Given the description of an element on the screen output the (x, y) to click on. 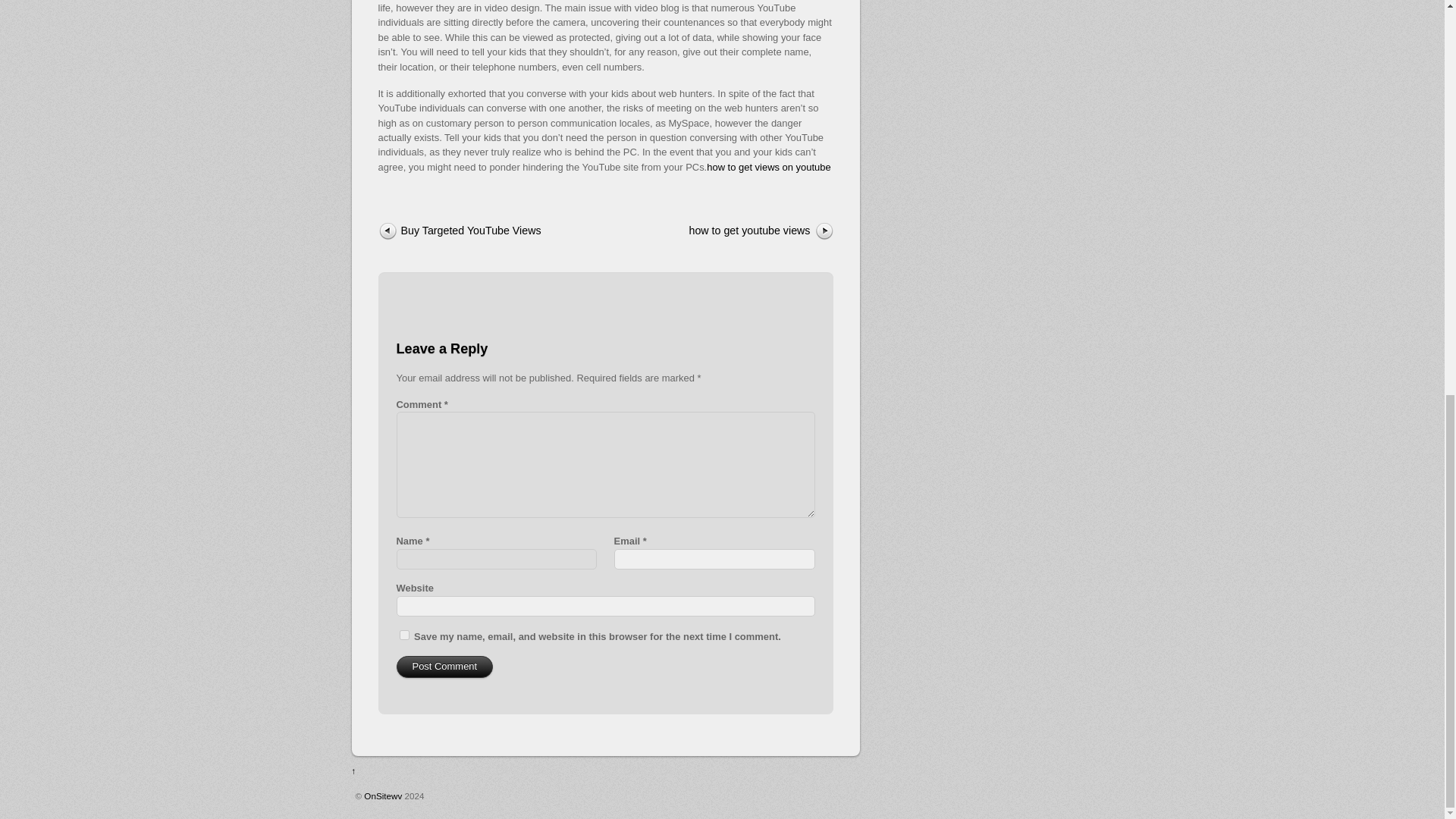
Buy Targeted YouTube Views (479, 231)
how to get youtube views (729, 231)
how to get views on youtube (767, 166)
Post Comment (444, 667)
yes (403, 634)
Post Comment (444, 667)
OnSitewv (382, 795)
